Given the description of an element on the screen output the (x, y) to click on. 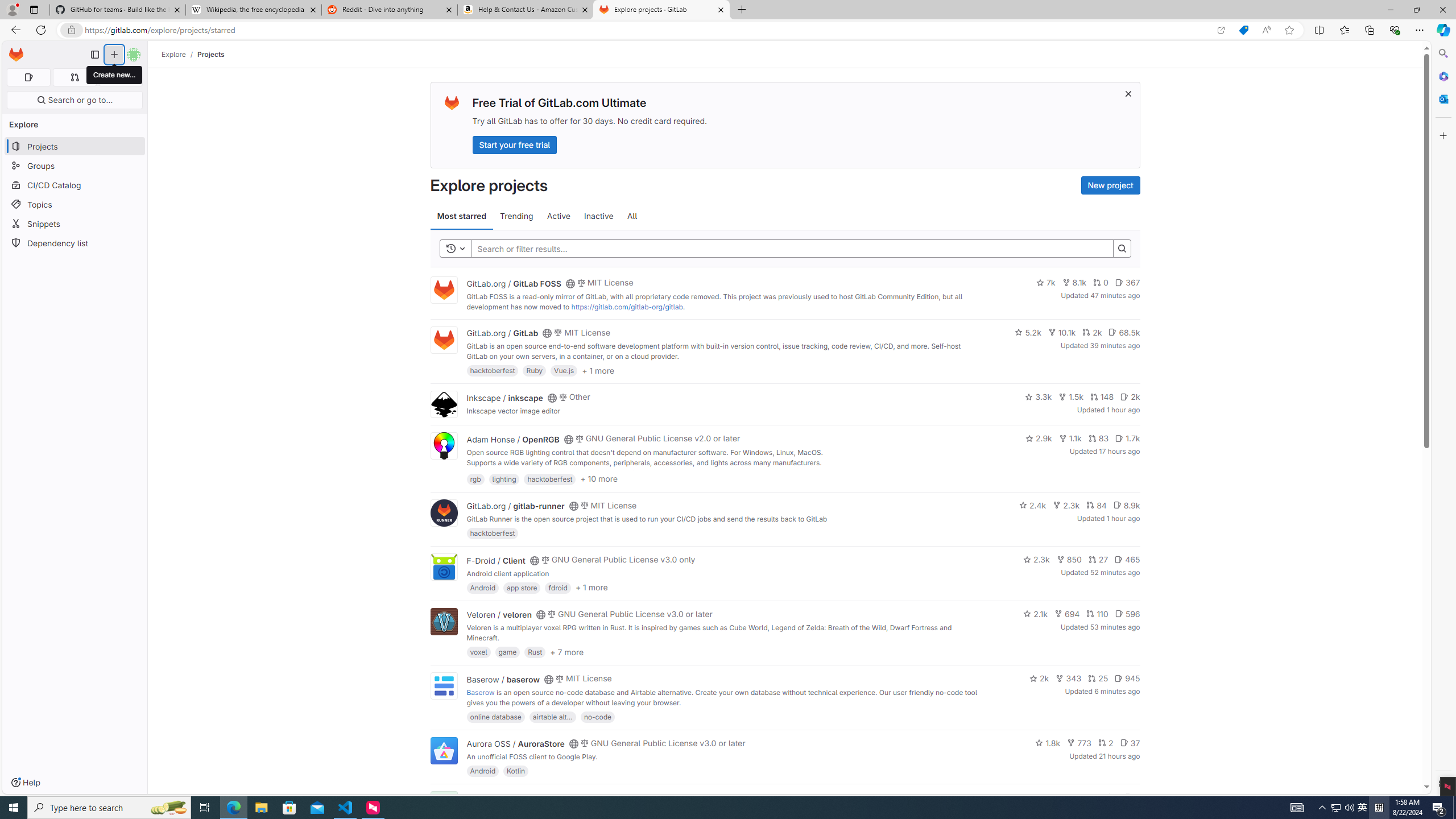
1.7k (1127, 438)
2k (1039, 678)
1 (1111, 797)
110 (1097, 613)
Android (482, 770)
694 (1067, 613)
Dismiss trial promotion (1128, 93)
84 (1096, 504)
Reddit - Dive into anything (390, 9)
8.1k (1073, 282)
+ 7 more (566, 651)
2.9k (1038, 438)
